Given the description of an element on the screen output the (x, y) to click on. 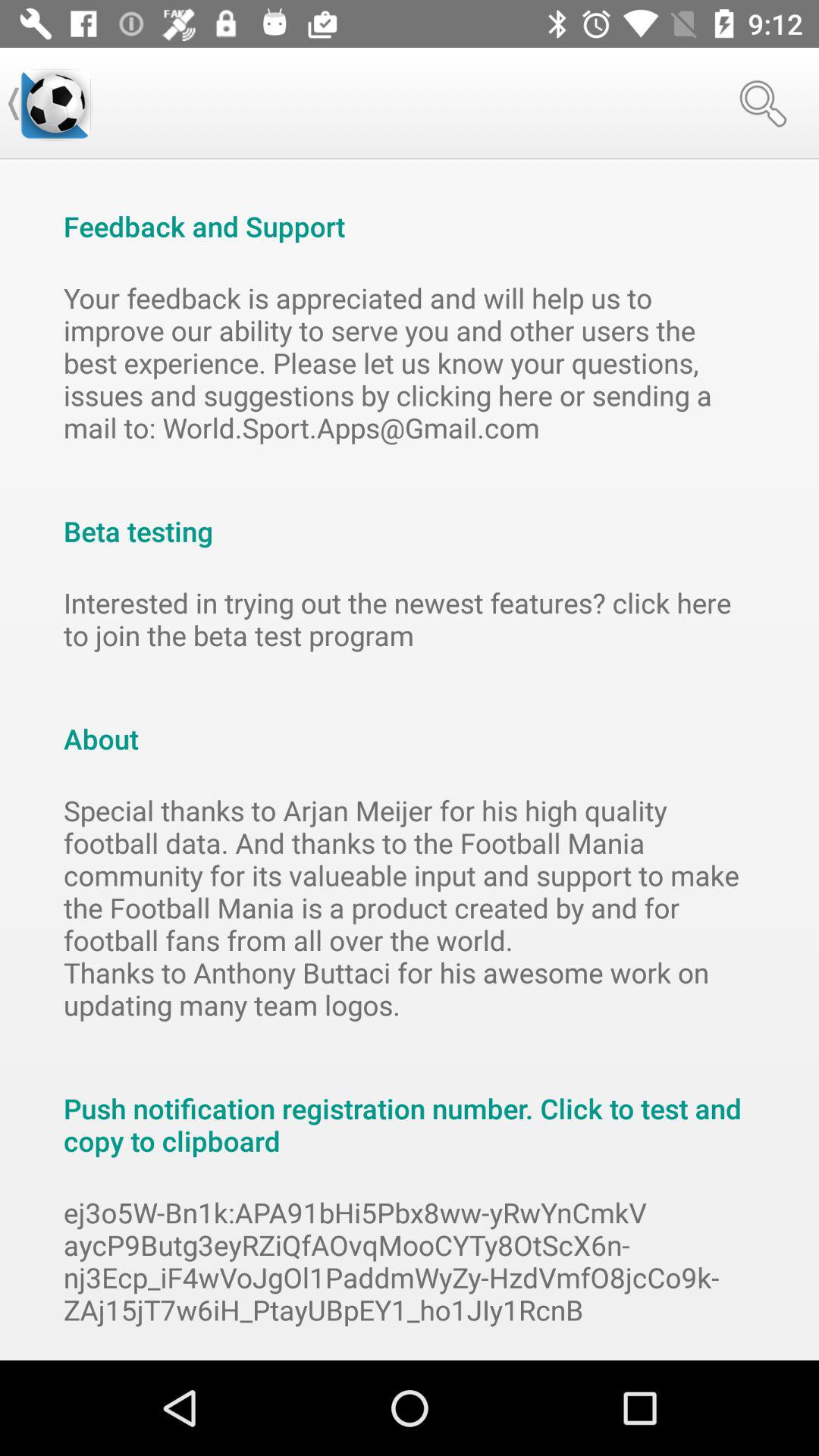
choose ej3o5w bn1k apa91bhi5pbx8ww item (409, 1260)
